Given the description of an element on the screen output the (x, y) to click on. 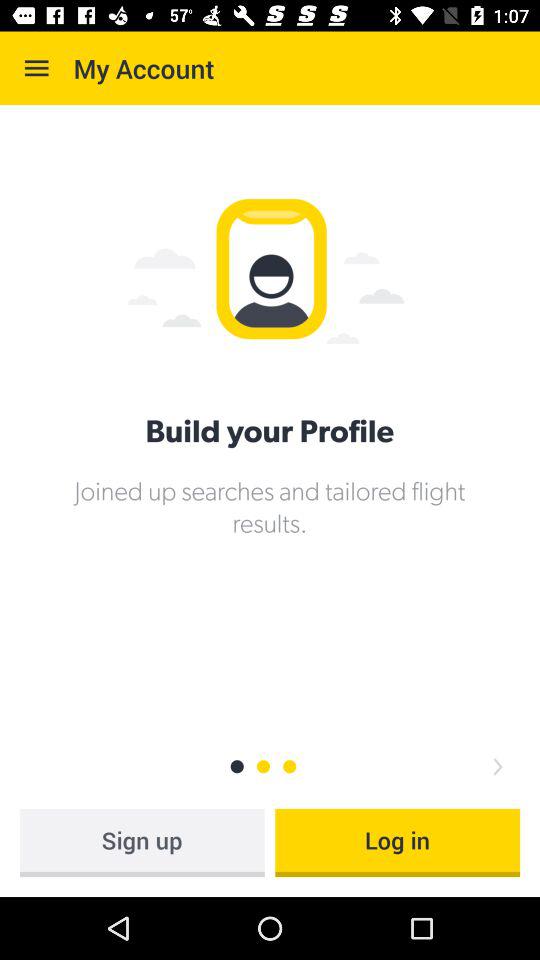
press the sign up icon (141, 842)
